Given the description of an element on the screen output the (x, y) to click on. 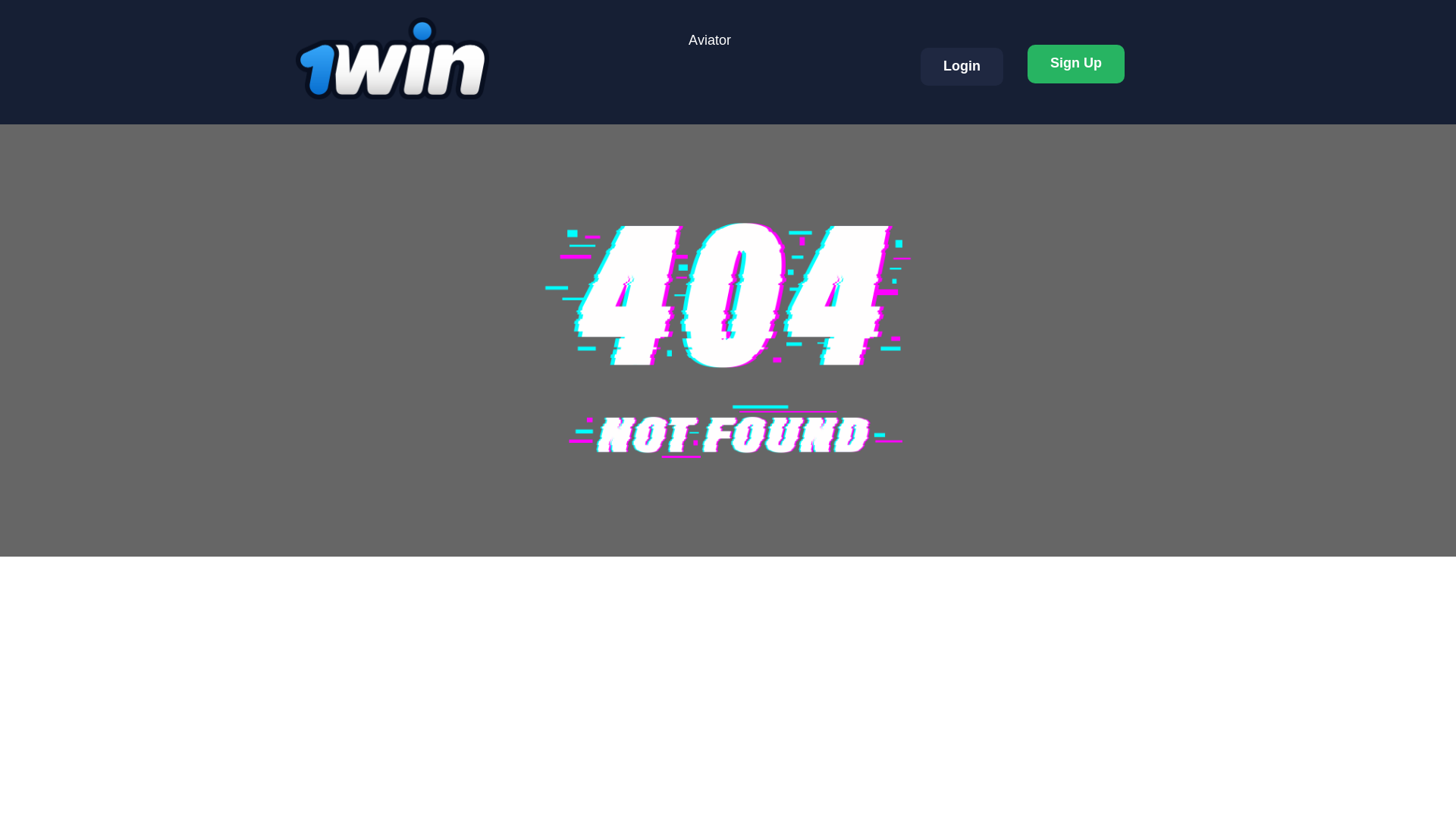
1win (392, 58)
Sign Up (1075, 64)
Login (961, 66)
